Given the description of an element on the screen output the (x, y) to click on. 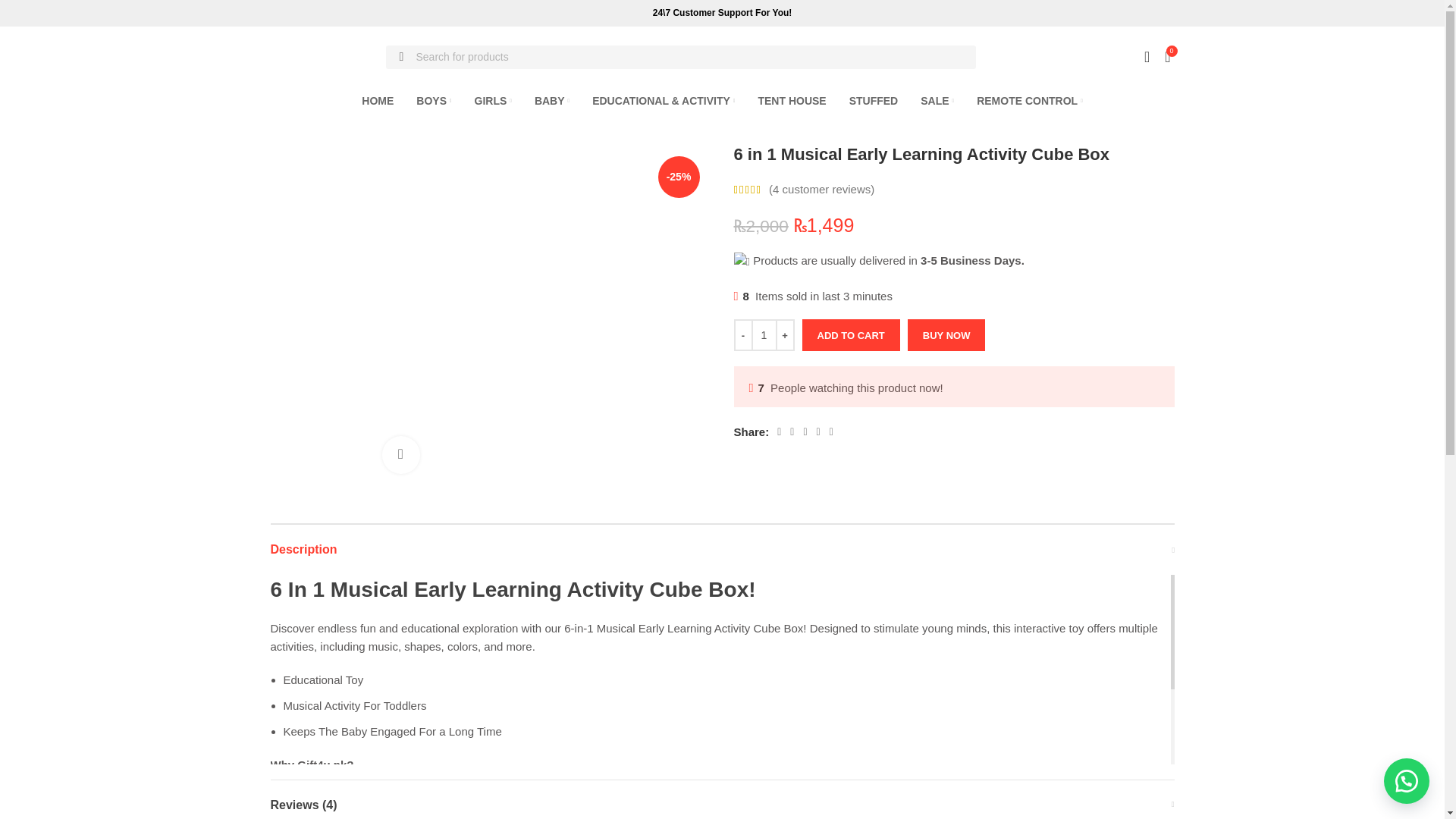
REMOTE CONTROL (1029, 100)
My account (1147, 56)
- (742, 335)
STUFFED (873, 100)
SEARCH (401, 57)
BABY (551, 100)
SALE (936, 100)
HOME (377, 100)
TENT HOUSE (791, 100)
Shopping cart (1167, 56)
BOYS (433, 100)
ADD TO CART (850, 335)
GIRLS (493, 100)
1 (763, 335)
